Given the description of an element on the screen output the (x, y) to click on. 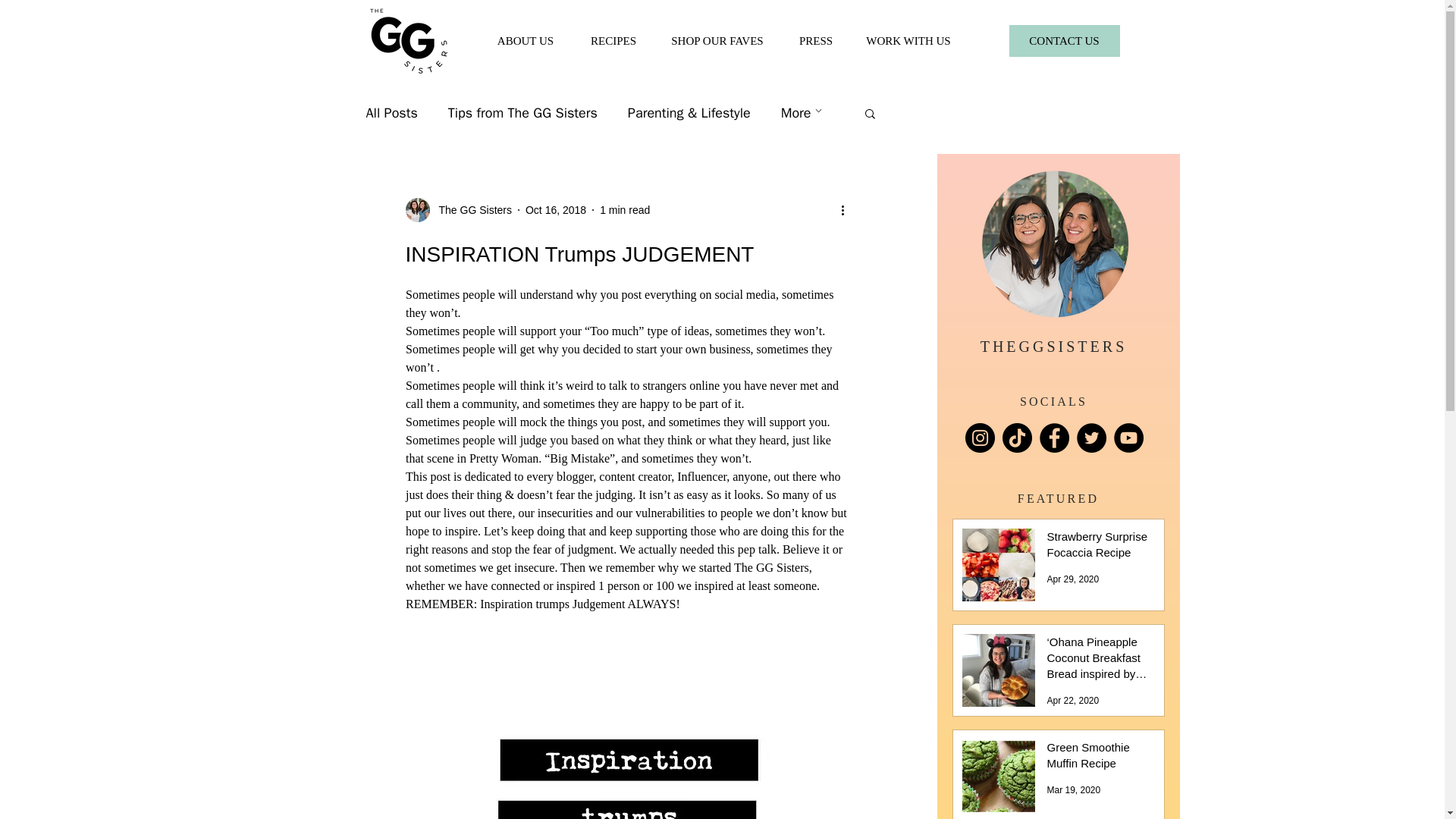
Mar 19, 2020 (1073, 789)
Tips from The GG Sisters (522, 113)
RECIPES (613, 40)
1 min read (624, 209)
Oct 16, 2018 (555, 209)
Strawberry Surprise Focaccia Recipe (1098, 547)
All Posts (390, 113)
Green Smoothie Muffin Recipe (1098, 758)
PRESS (815, 40)
CONTACT US (1064, 40)
SHOP OUR FAVES (716, 40)
Apr 29, 2020 (1072, 579)
Apr 22, 2020 (1072, 700)
The GG Sisters (470, 209)
WORK WITH US (907, 40)
